Given the description of an element on the screen output the (x, y) to click on. 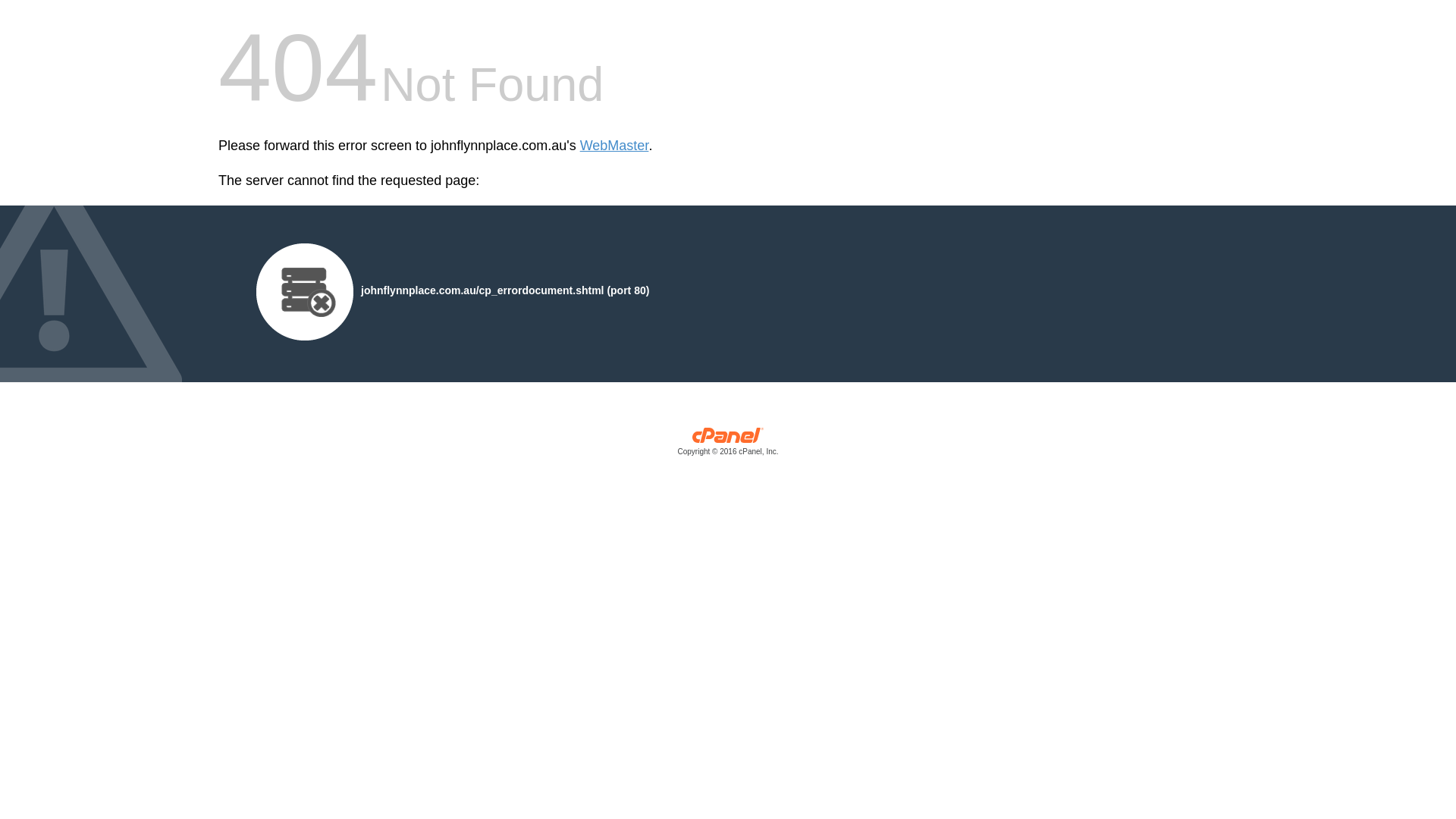
WebMaster Element type: text (614, 145)
